Given the description of an element on the screen output the (x, y) to click on. 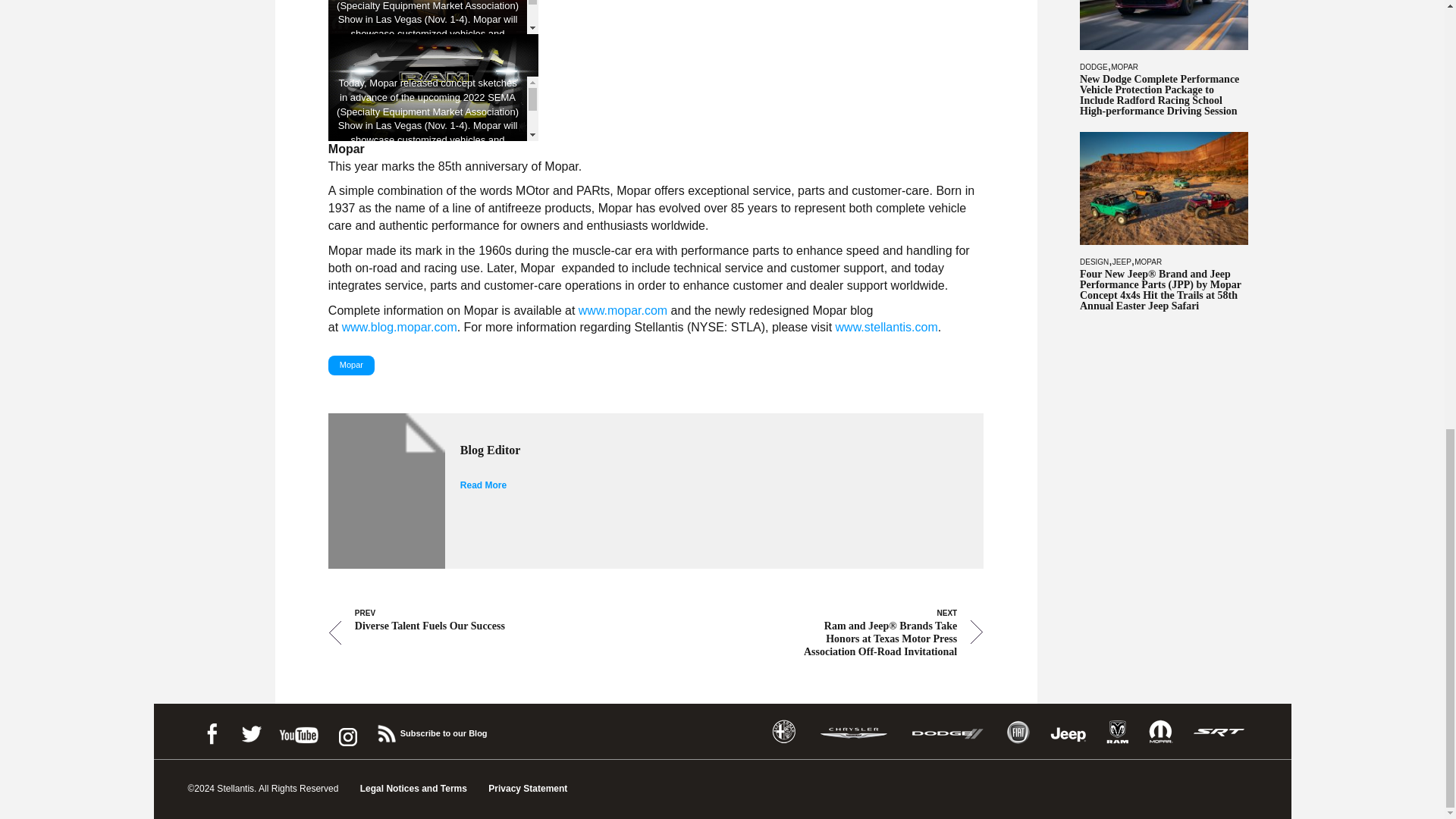
DODGE (1094, 66)
DESIGN (1094, 260)
MOPAR (1124, 66)
